Given the description of an element on the screen output the (x, y) to click on. 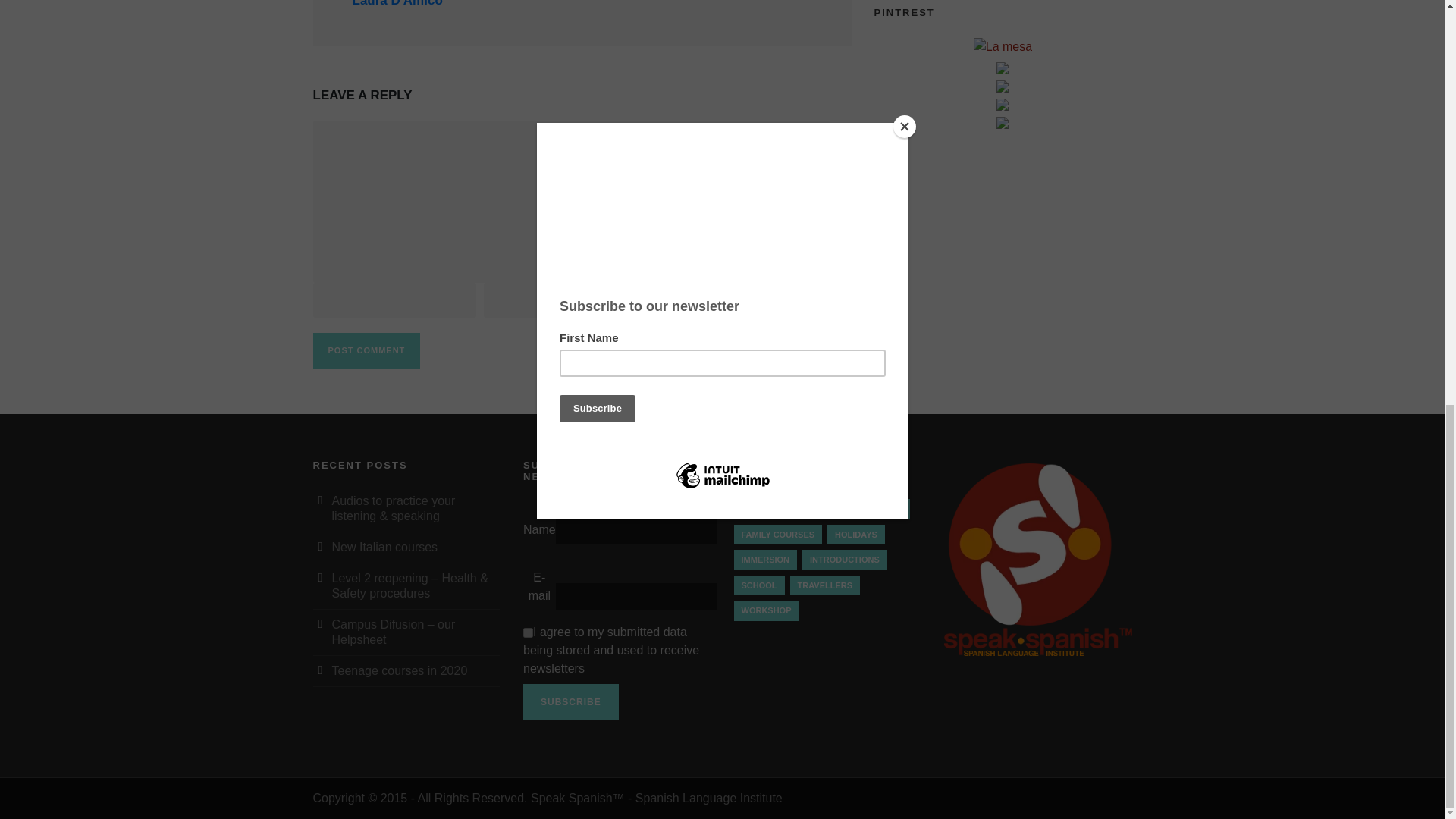
yes (527, 633)
Posts by Laura D'Amico (397, 3)
La mesa (1003, 46)
Post Comment (366, 350)
Subscribe (570, 701)
 La mesa  (1002, 47)
